Given the description of an element on the screen output the (x, y) to click on. 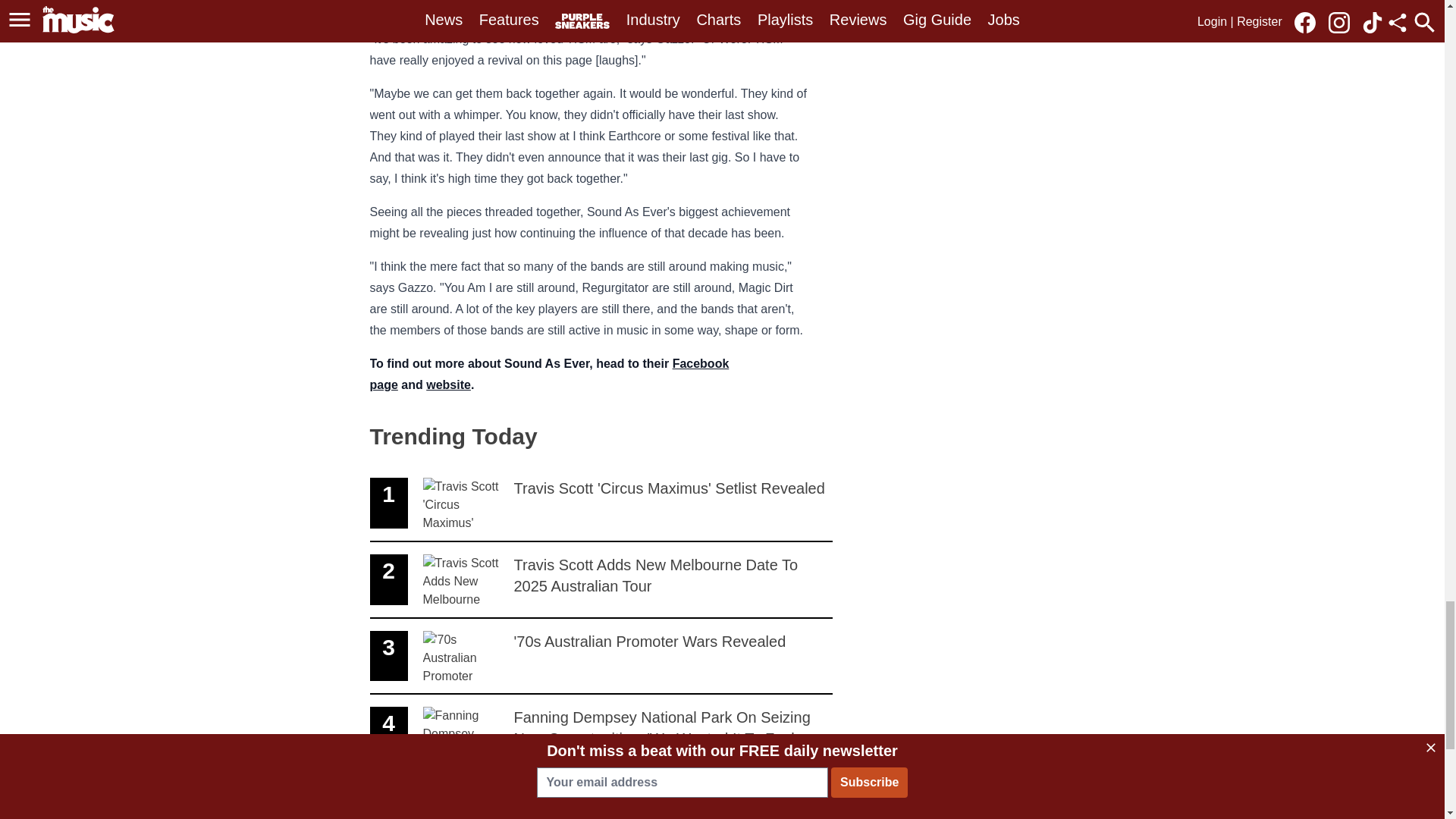
website (448, 384)
Facebook page (549, 374)
